Given the description of an element on the screen output the (x, y) to click on. 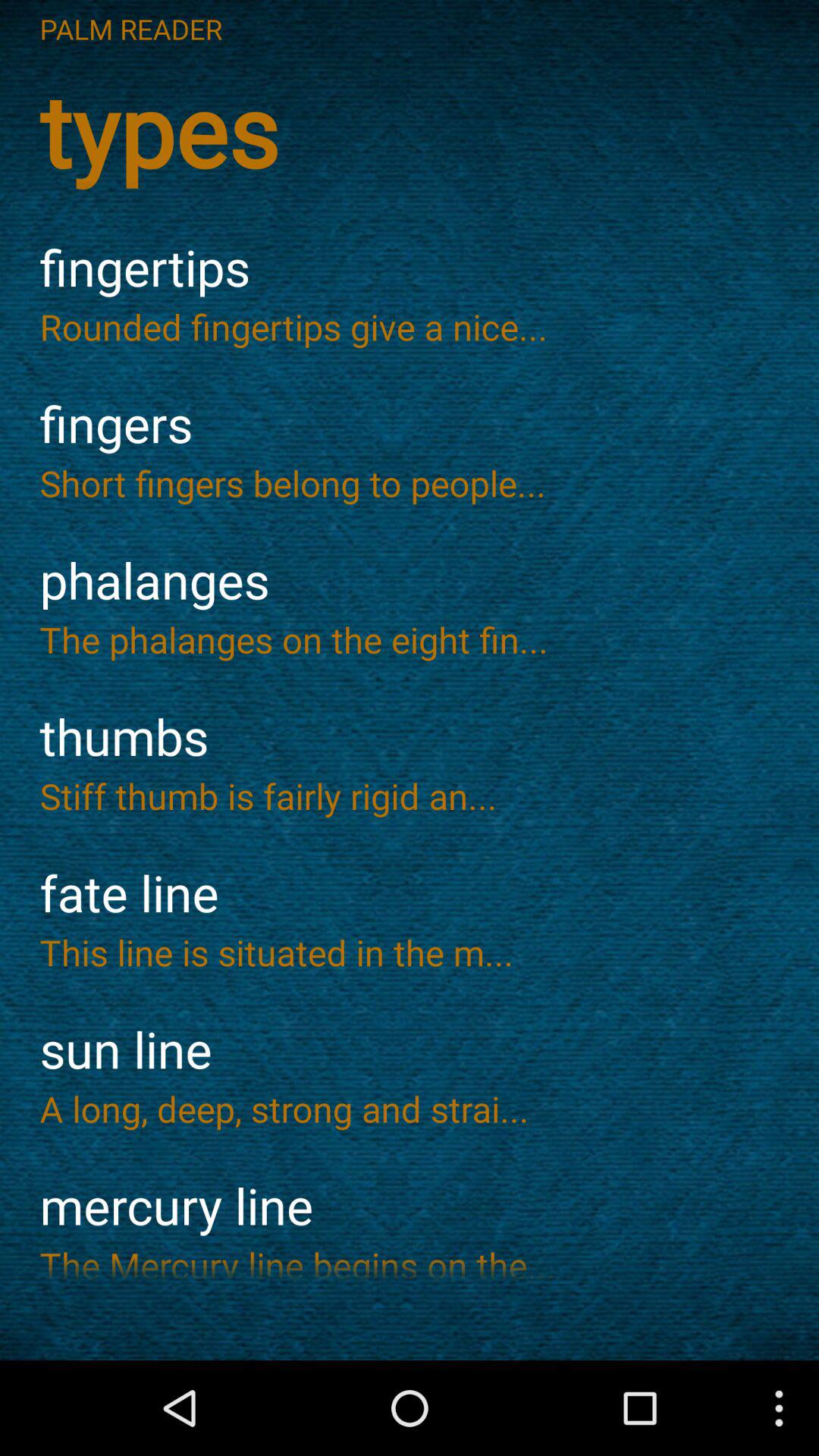
launch item above the this line is (409, 893)
